Given the description of an element on the screen output the (x, y) to click on. 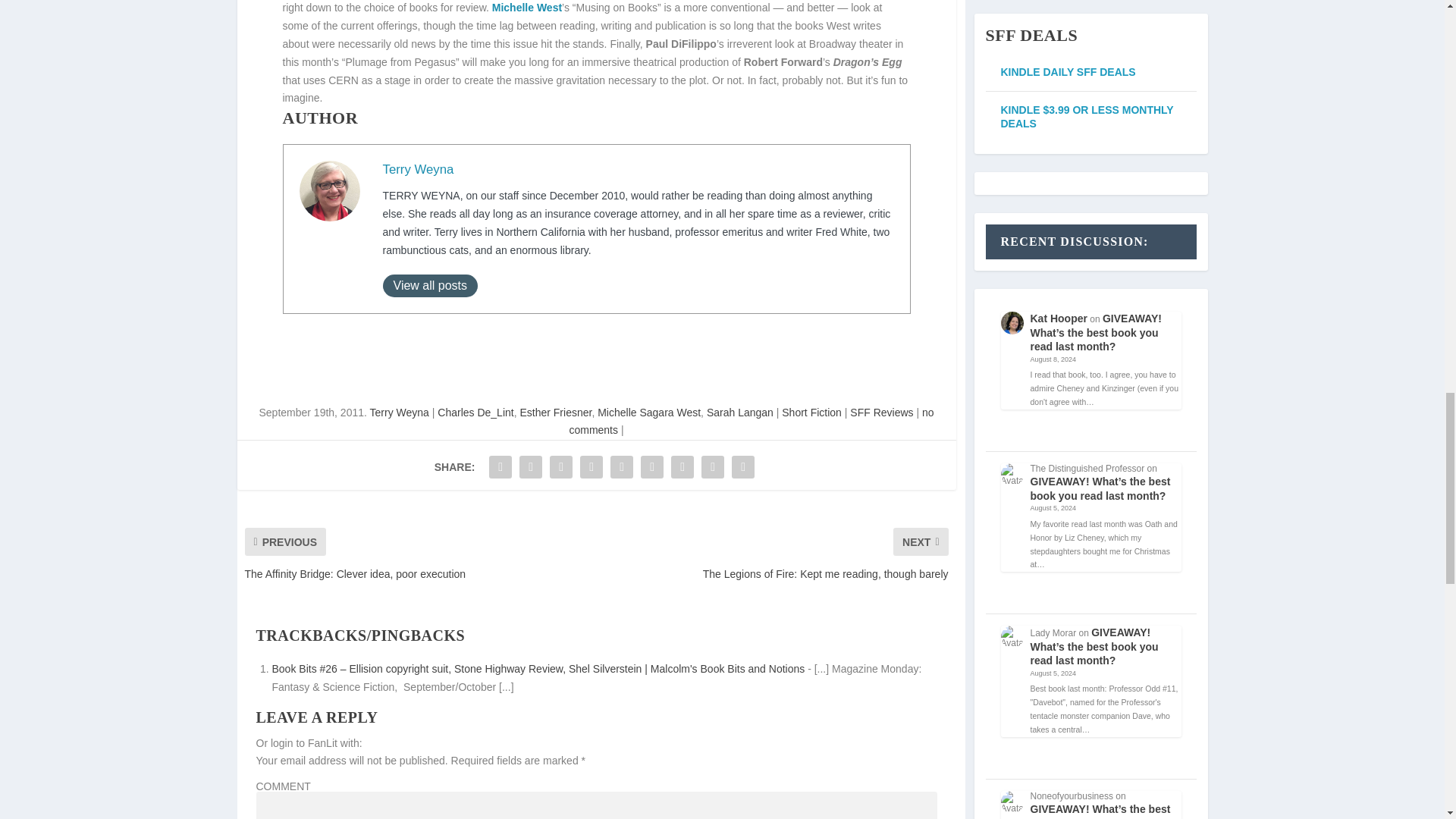
Terry Weyna (416, 169)
Posts by Terry Weyna (399, 412)
View all posts (429, 285)
